Given the description of an element on the screen output the (x, y) to click on. 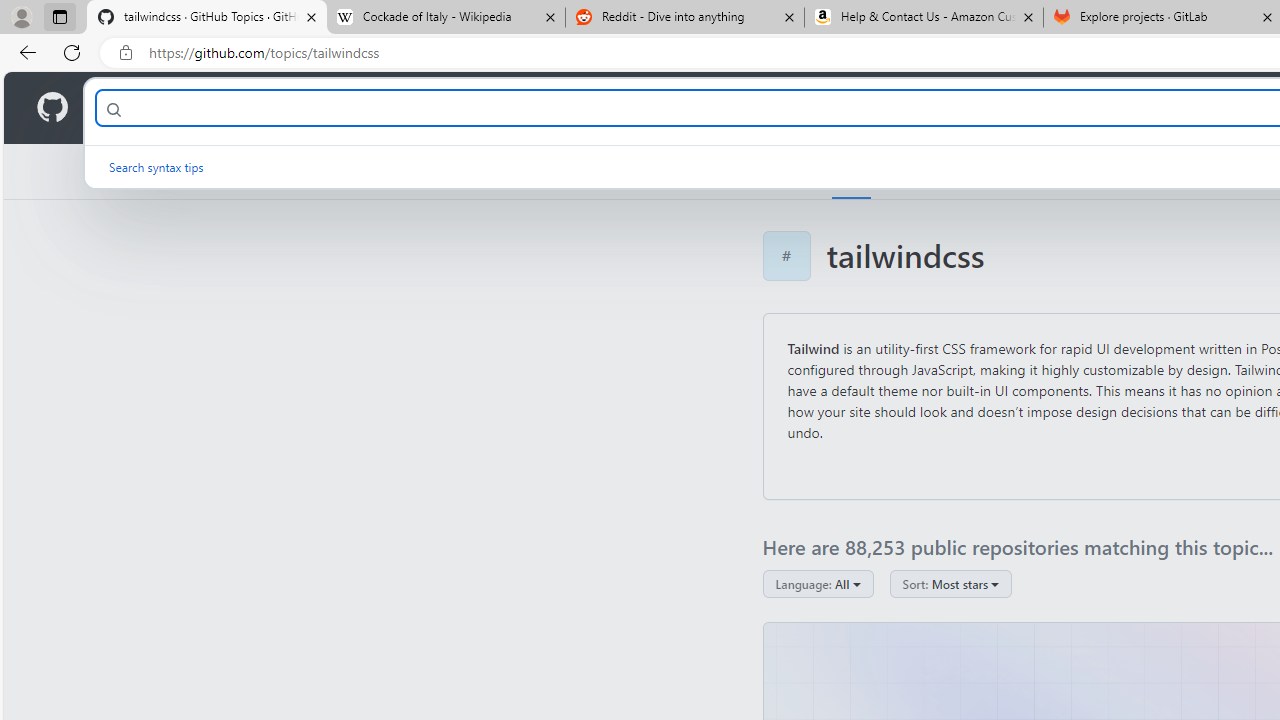
Pricing (649, 107)
Explore (784, 171)
GitHub Sponsors (1180, 171)
Resources (330, 107)
Solutions (225, 107)
Product (130, 107)
Trending (921, 171)
Solutions (225, 107)
Events (1084, 171)
Topics (851, 171)
